Given the description of an element on the screen output the (x, y) to click on. 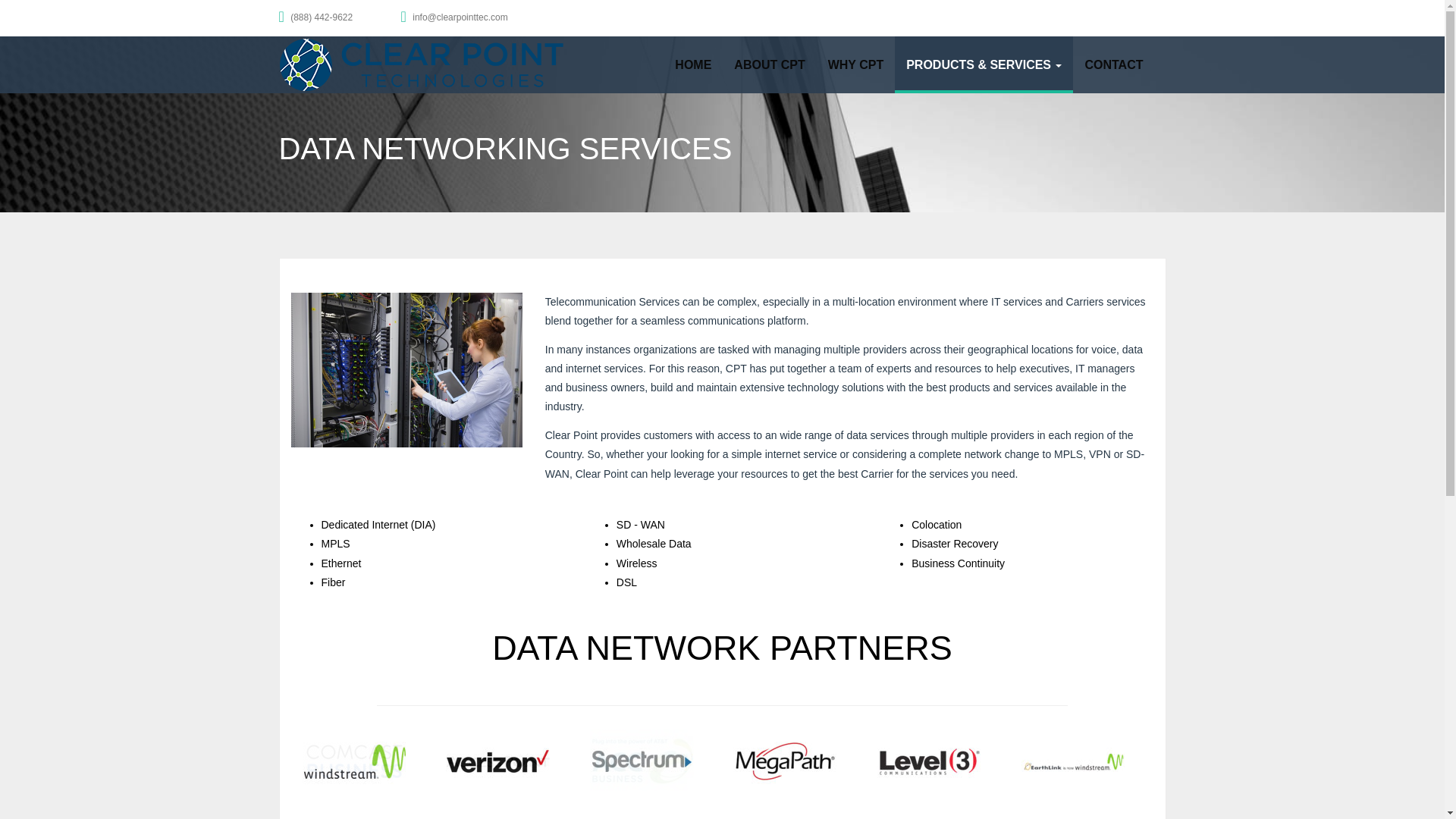
Clear Point Technologies (421, 64)
About CPT (768, 64)
WHY CPT (855, 64)
Home (692, 64)
HOME (692, 64)
ABOUT CPT (768, 64)
Contact (1113, 64)
CONTACT (1113, 64)
Why CPT (855, 64)
